Given the description of an element on the screen output the (x, y) to click on. 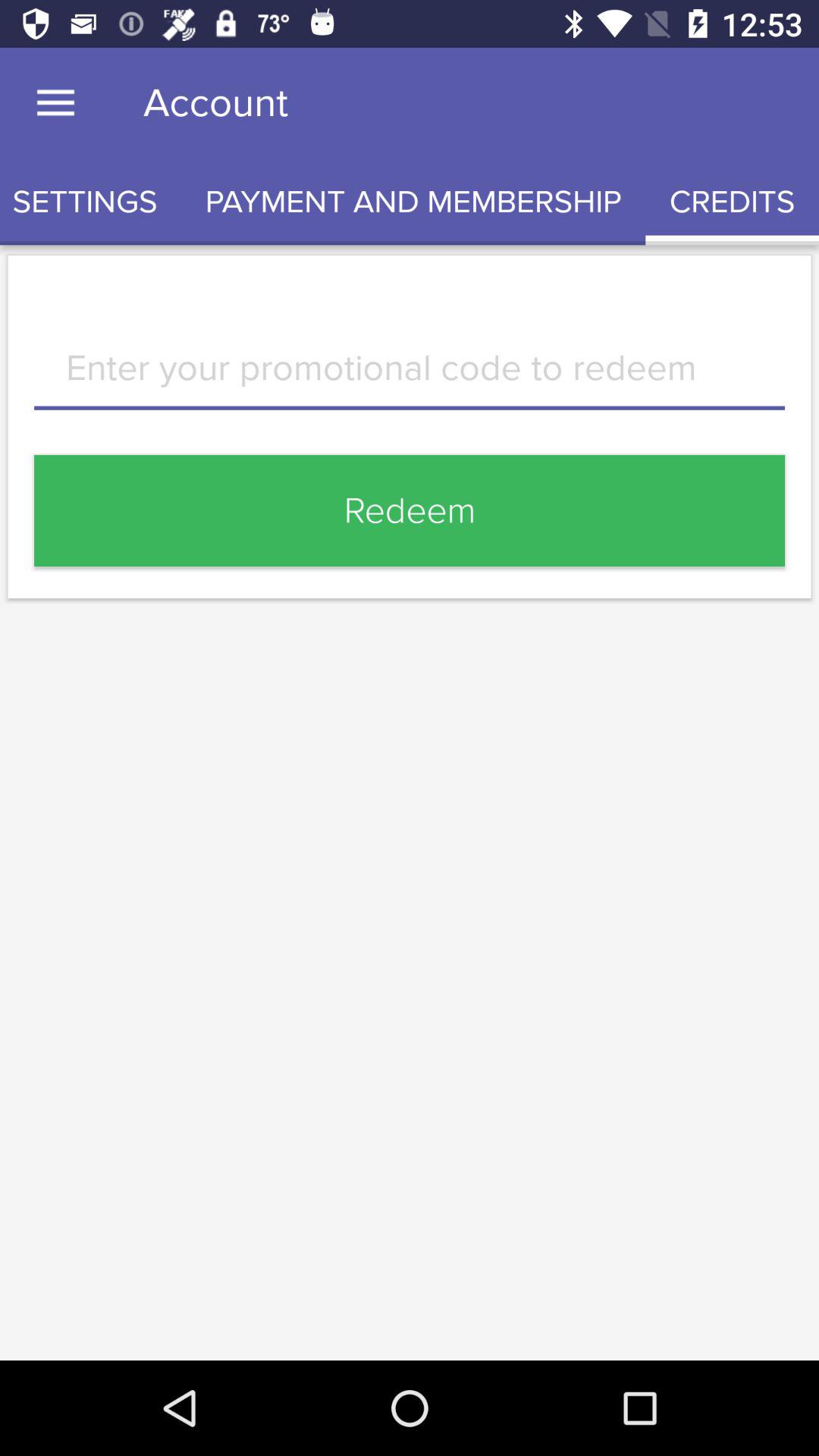
flip to the settings item (90, 202)
